Given the description of an element on the screen output the (x, y) to click on. 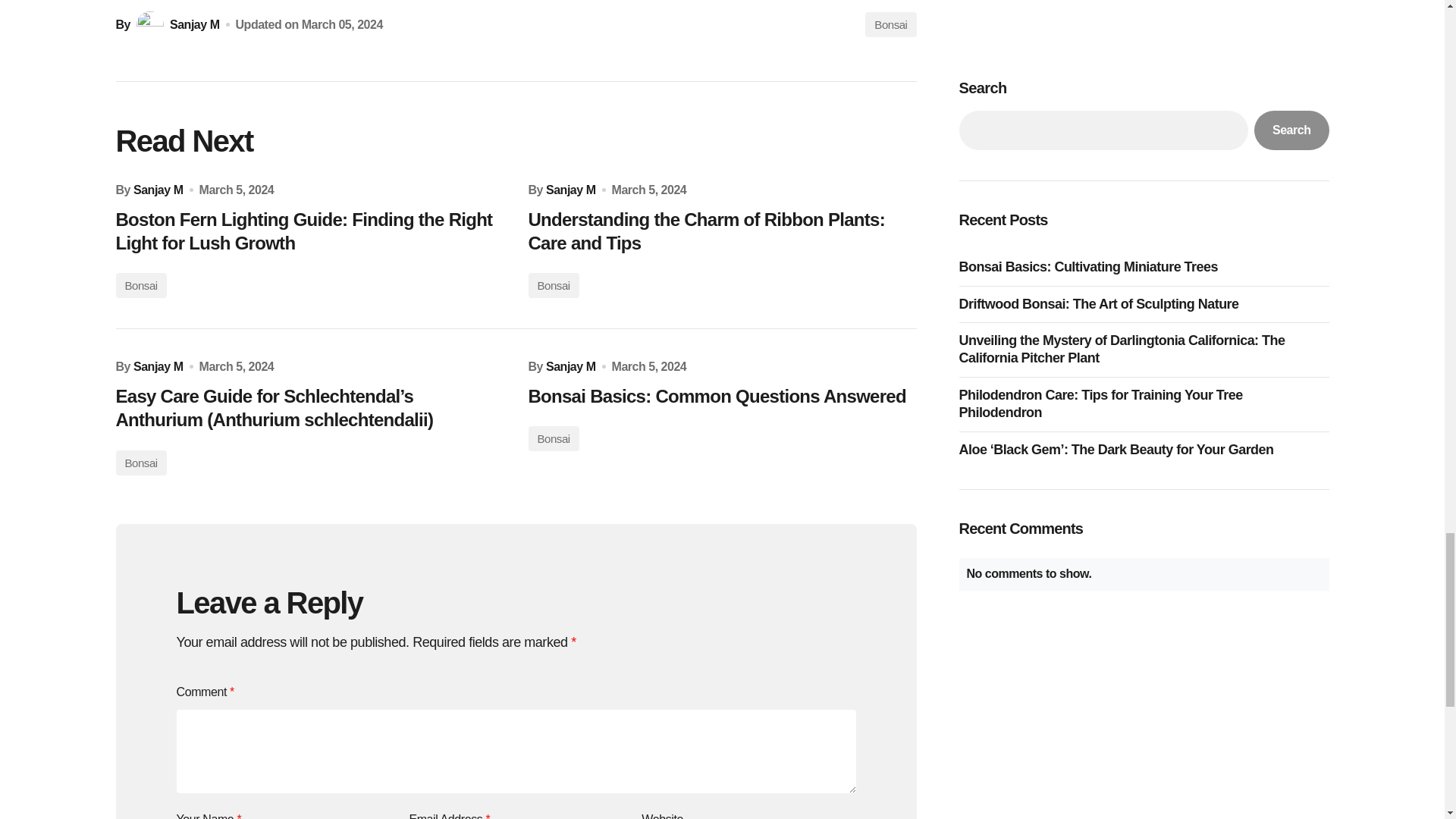
Bonsai Basics: Common Questions Answered (721, 395)
Bonsai (140, 285)
Bonsai (552, 438)
Sanjay M (158, 189)
Sanjay M (570, 366)
Sanjay M (570, 189)
Understanding the Charm of Ribbon Plants: Care and Tips (721, 231)
Sanjay M (158, 366)
Sanjay M (176, 24)
Bonsai (889, 24)
Bonsai (552, 285)
Bonsai (140, 462)
